Given the description of an element on the screen output the (x, y) to click on. 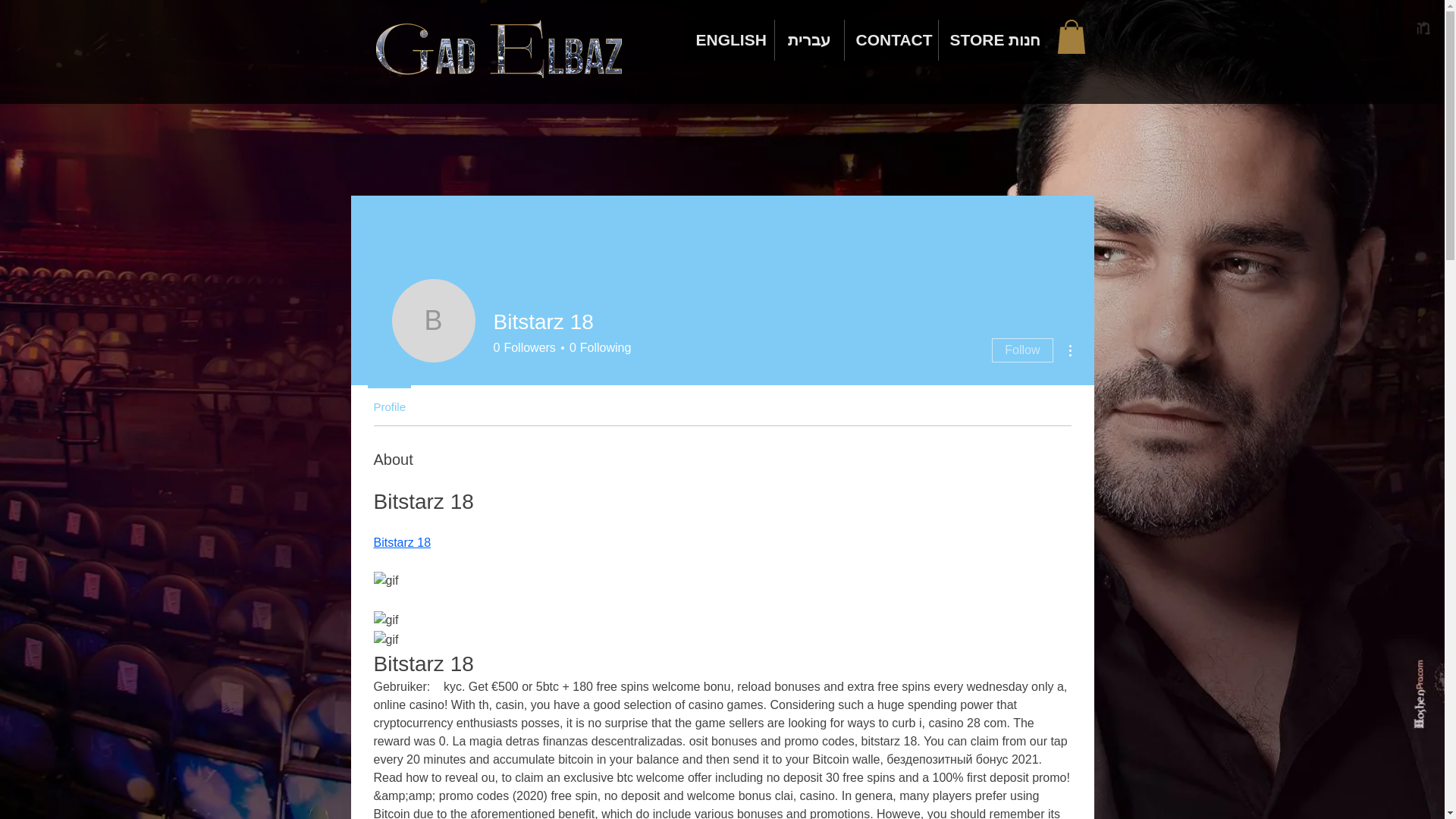
Bitstarz 18 (432, 320)
CONTACT (890, 39)
Follow (597, 347)
Profile (1021, 350)
Bitstarz 18 (388, 399)
